Given the description of an element on the screen output the (x, y) to click on. 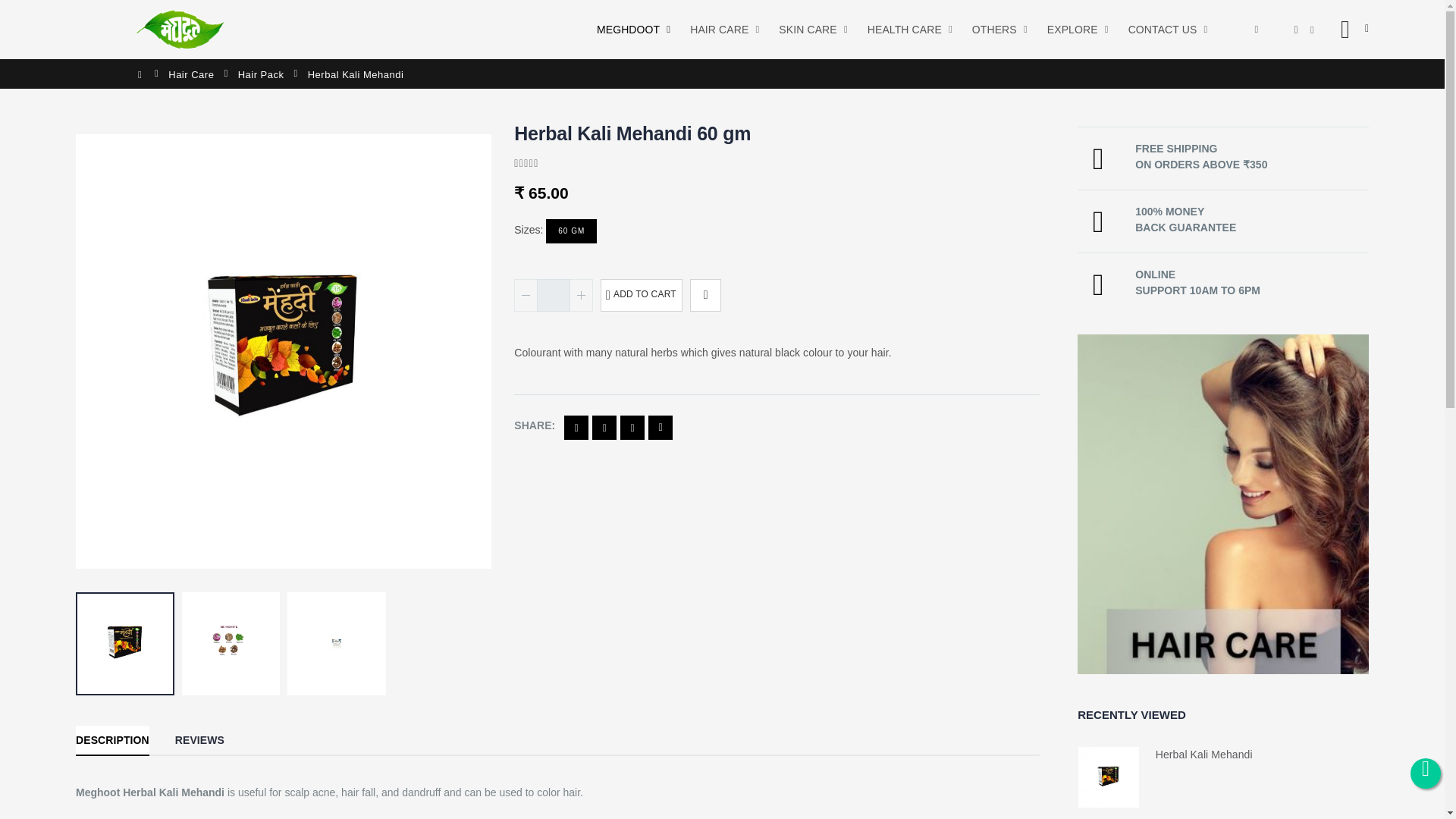
EXPLORE (1075, 29)
Add to Wishlist (705, 295)
HAIR CARE (721, 29)
HEALTH CARE (907, 29)
OTHERS (997, 29)
CONTACT US (1166, 29)
MEGHDOOT (630, 29)
SKIN CARE (810, 29)
